Given the description of an element on the screen output the (x, y) to click on. 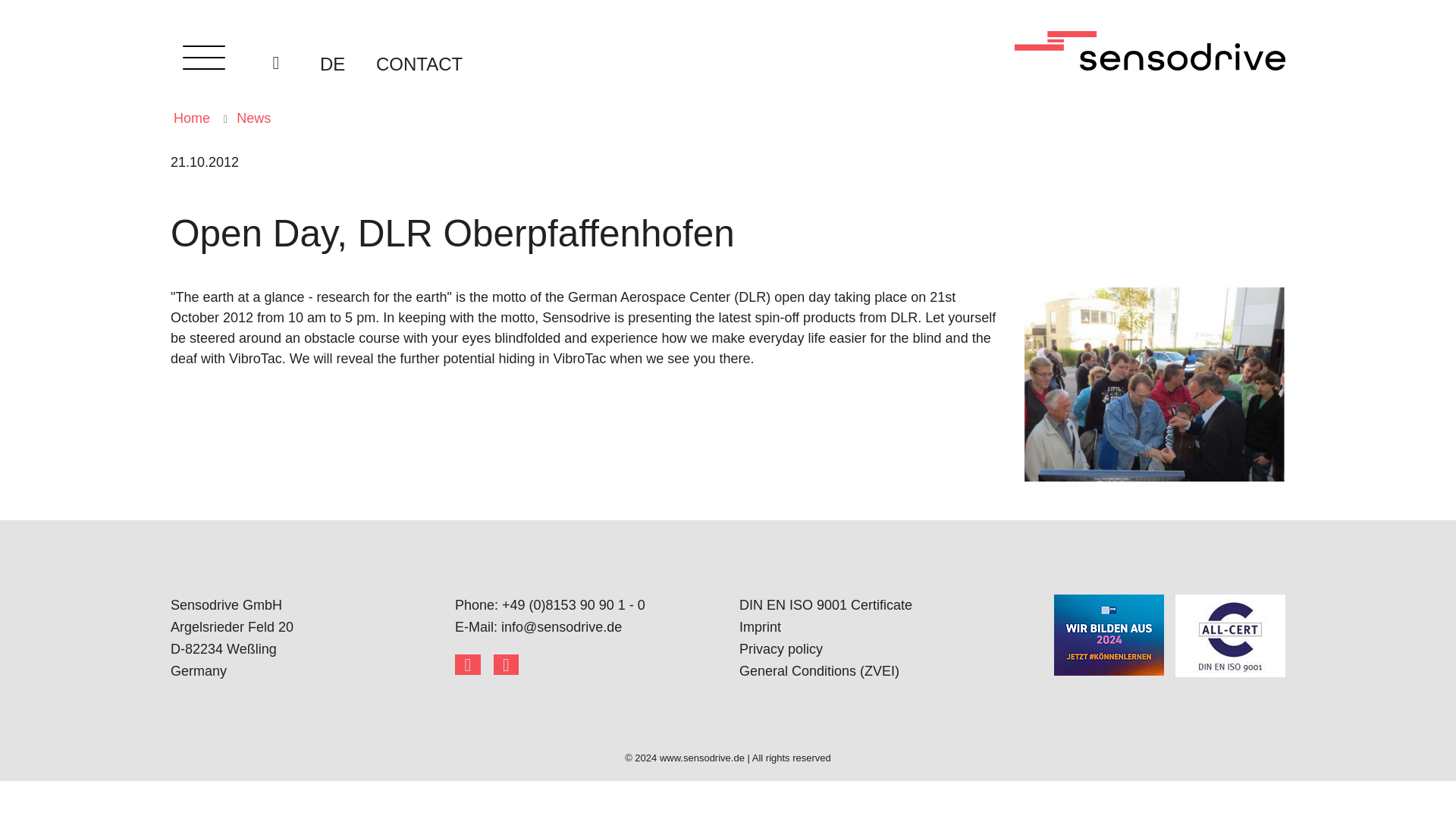
Norbert Sporer mit VibroTac (1154, 384)
DIN EN ISO 9001:2015 Zertifikat (1229, 635)
Imprint (759, 626)
Privacy policy (780, 648)
SENSODRIVE Ausbildungsbetrieb (1108, 634)
DE (318, 64)
Sensodrive GmbH (301, 605)
News (252, 118)
CONTACT (419, 64)
Home (191, 118)
